Given the description of an element on the screen output the (x, y) to click on. 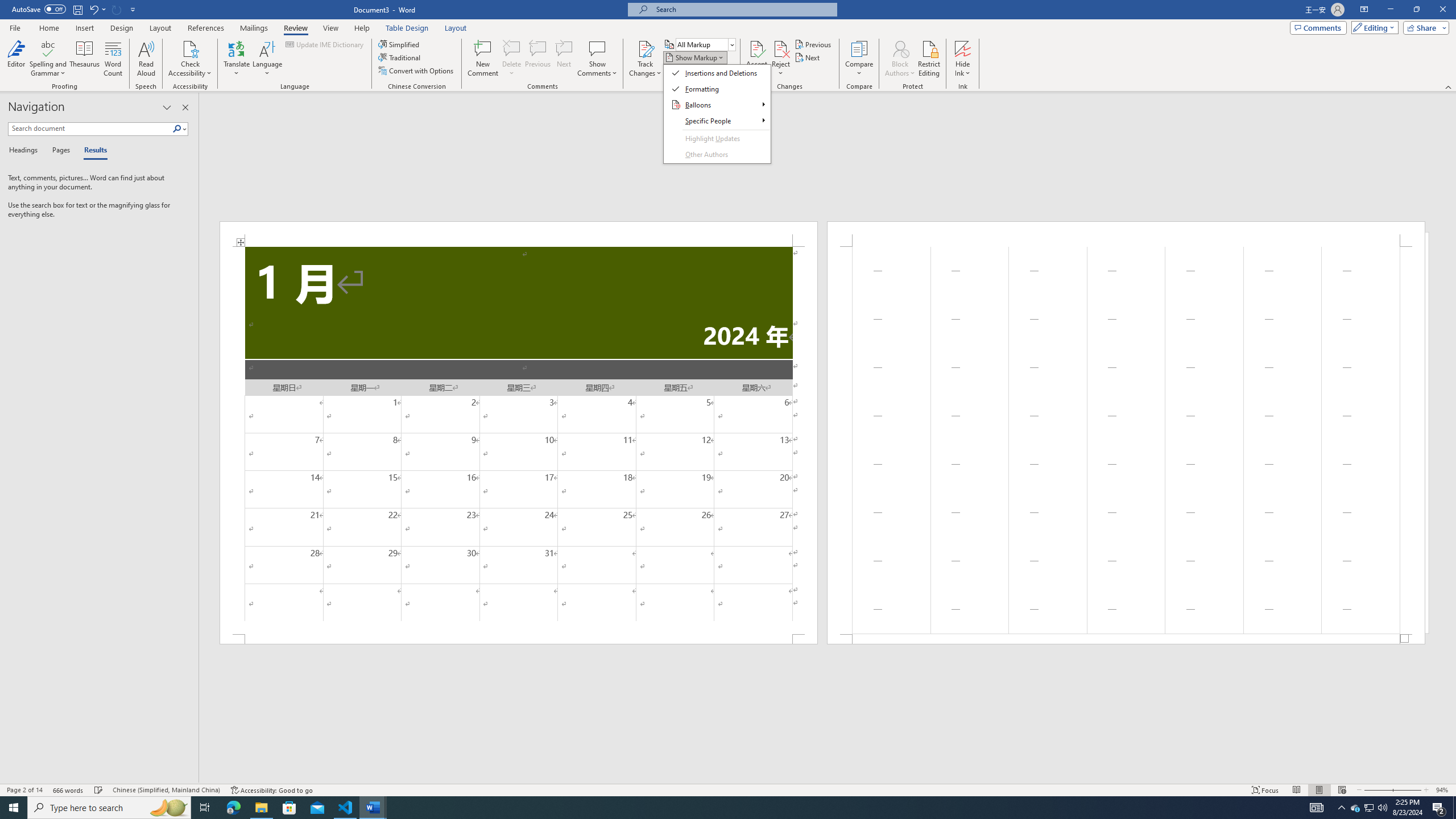
Show Markup (695, 56)
Delete (511, 48)
Compare (859, 58)
Simplified (400, 44)
Show Comments (597, 58)
Spelling and Grammar (48, 58)
